Given the description of an element on the screen output the (x, y) to click on. 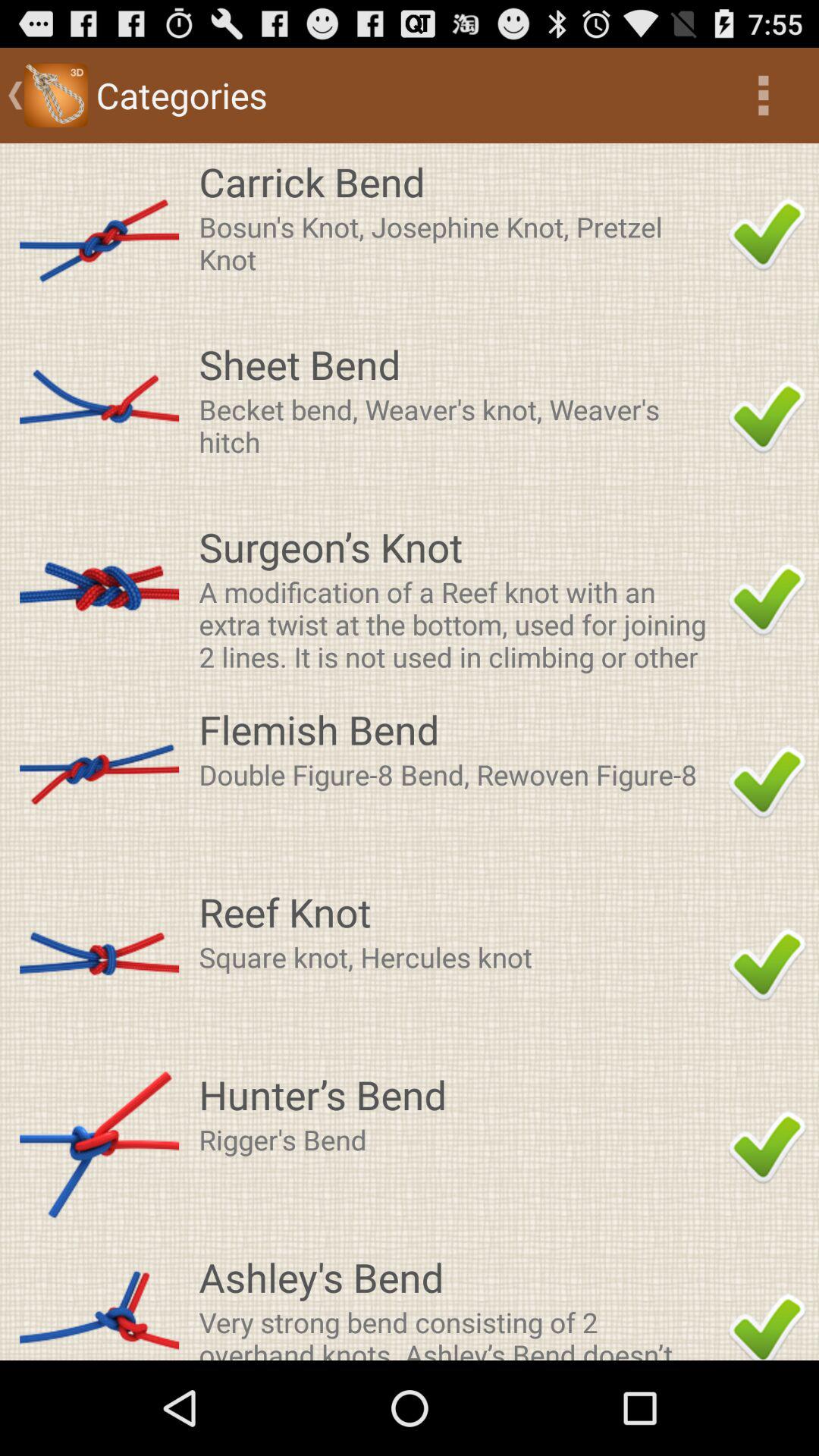
flip until very strong bend item (459, 1331)
